Given the description of an element on the screen output the (x, y) to click on. 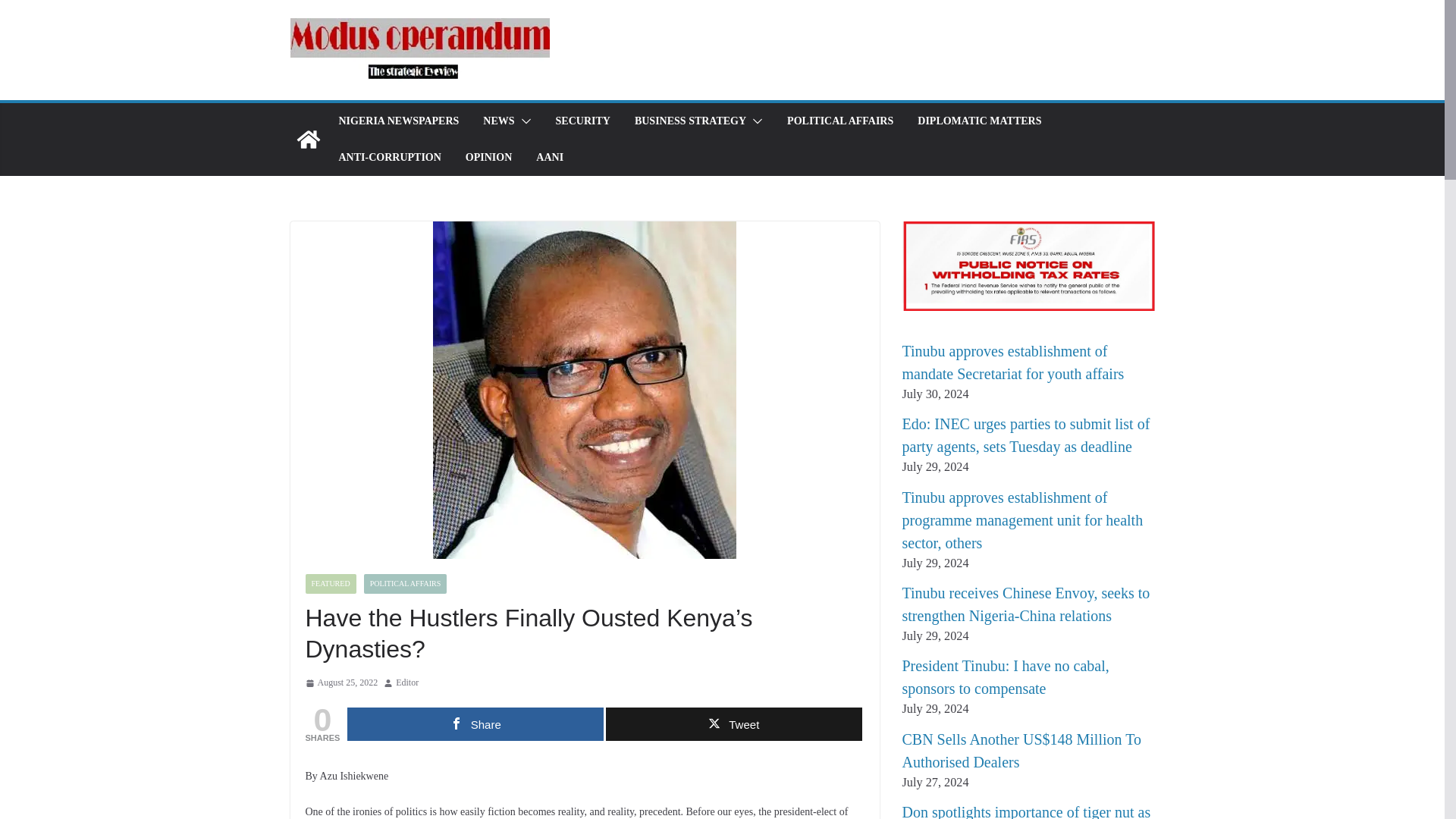
Modus Operandum (307, 139)
Tweet (733, 724)
1:59 pm (340, 682)
POLITICAL AFFAIRS (840, 120)
NIGERIA NEWSPAPERS (397, 120)
AANI (549, 157)
FEATURED (329, 583)
ANTI-CORRUPTION (389, 157)
DIPLOMATIC MATTERS (979, 120)
NEWS (498, 120)
BUSINESS STRATEGY (689, 120)
Editor (407, 682)
OPINION (488, 157)
Editor (407, 682)
SECURITY (583, 120)
